Given the description of an element on the screen output the (x, y) to click on. 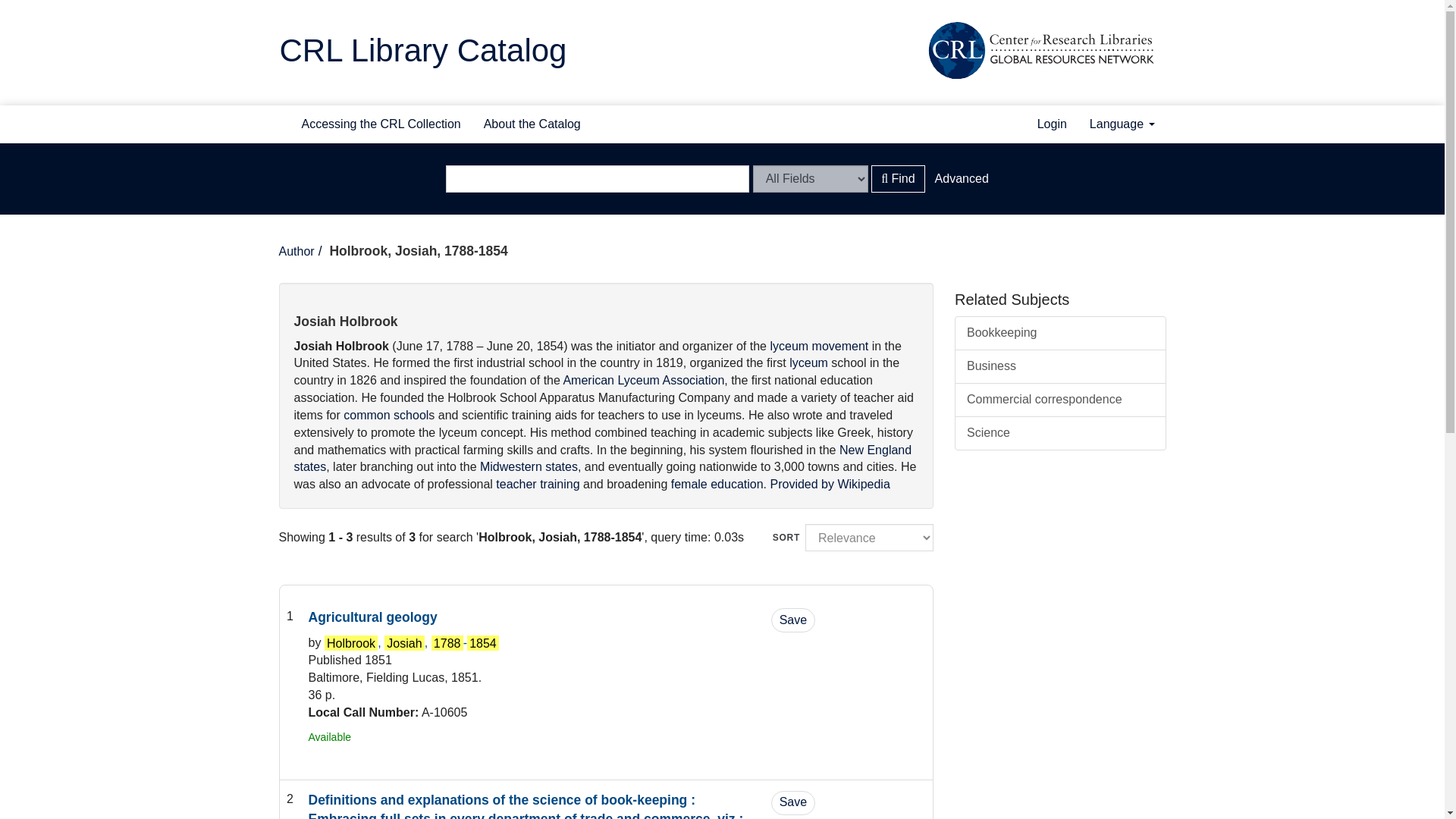
Accessing the CRL Collection (380, 123)
Skip to content (40, 8)
CRL Library Catalog (422, 49)
Login (1052, 123)
Language (1122, 123)
About the Catalog (531, 123)
